Given the description of an element on the screen output the (x, y) to click on. 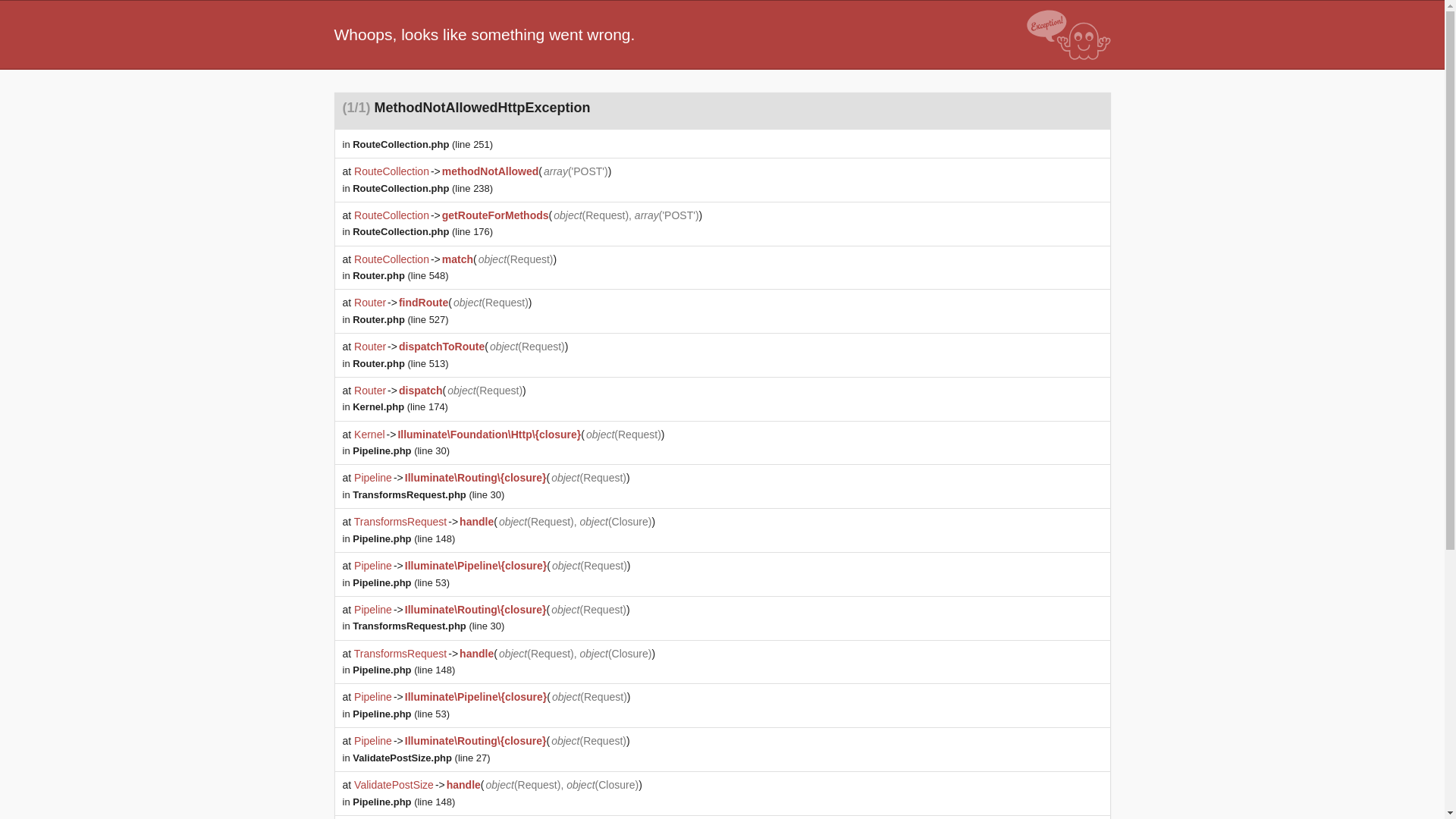
Kernel.php (line 174) Element type: text (400, 406)
RouteCollection.php (line 251) Element type: text (422, 144)
Pipeline.php (line 148) Element type: text (403, 801)
Pipeline.php (line 53) Element type: text (400, 713)
Pipeline.php (line 53) Element type: text (400, 582)
ValidatePostSize.php (line 27) Element type: text (420, 757)
RouteCollection.php (line 176) Element type: text (422, 231)
Router.php (line 548) Element type: text (400, 275)
TransformsRequest.php (line 30) Element type: text (428, 494)
TransformsRequest.php (line 30) Element type: text (428, 625)
Router.php (line 527) Element type: text (400, 319)
Pipeline.php (line 148) Element type: text (403, 669)
RouteCollection.php (line 238) Element type: text (422, 188)
Pipeline.php (line 148) Element type: text (403, 538)
Router.php (line 513) Element type: text (400, 363)
Pipeline.php (line 30) Element type: text (400, 450)
